Given the description of an element on the screen output the (x, y) to click on. 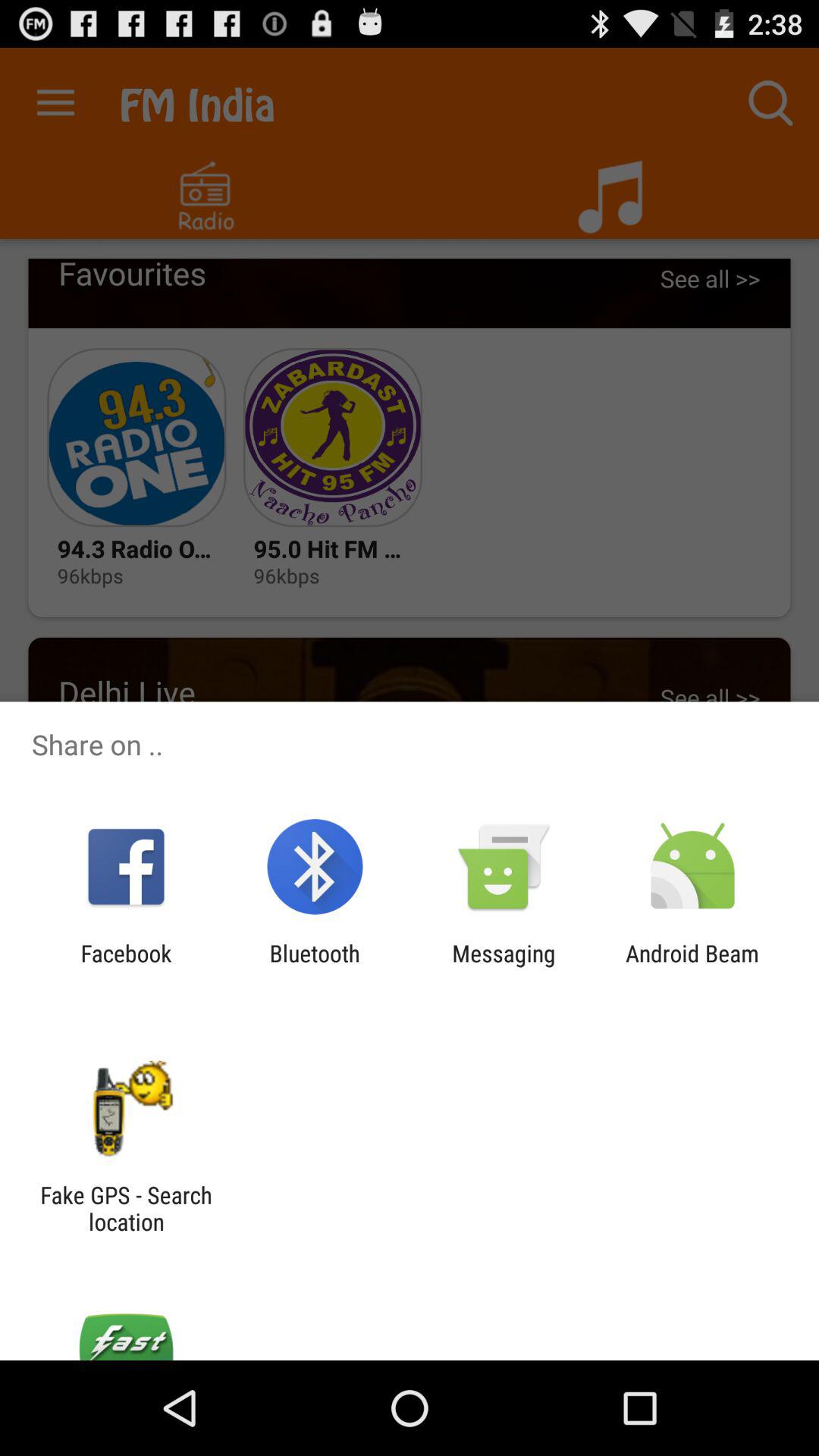
jump to android beam item (692, 966)
